Given the description of an element on the screen output the (x, y) to click on. 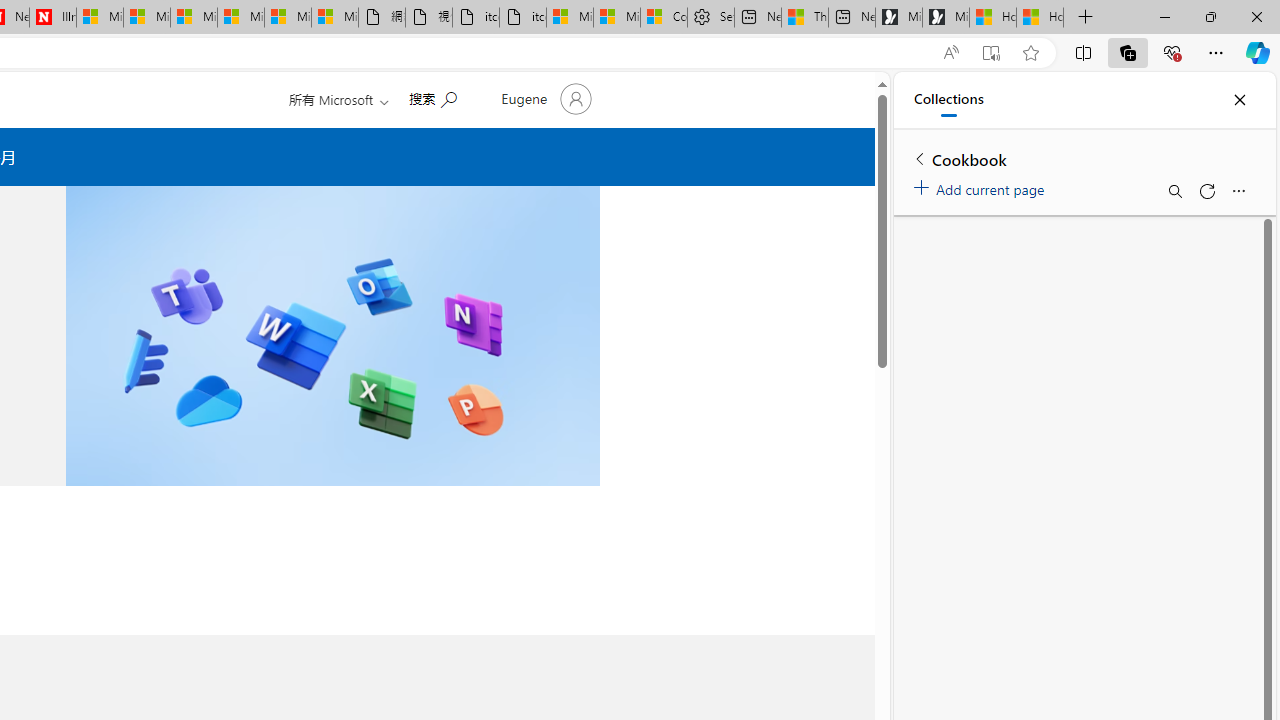
How to Use a TV as a Computer Monitor (1040, 17)
More options menu (1238, 190)
